Given the description of an element on the screen output the (x, y) to click on. 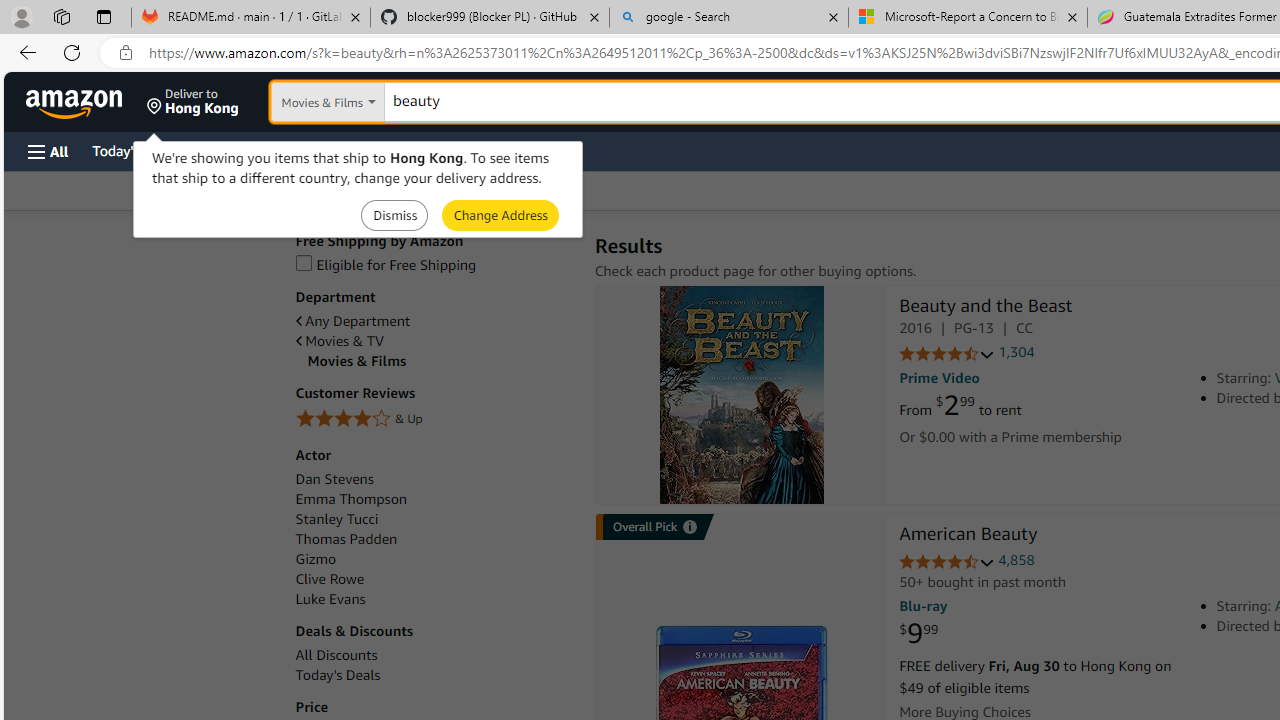
Movies & TV (434, 340)
Dan Stevens (333, 479)
Stanley Tucci (434, 519)
Any Department (434, 321)
4.6 out of 5 stars (946, 562)
Gizmo (315, 559)
Beauty and the Beast (985, 308)
Clive Rowe (329, 579)
All Discounts (434, 655)
Open Menu (48, 151)
Today's Deals (337, 675)
Deliver to Hong Kong (193, 101)
